Given the description of an element on the screen output the (x, y) to click on. 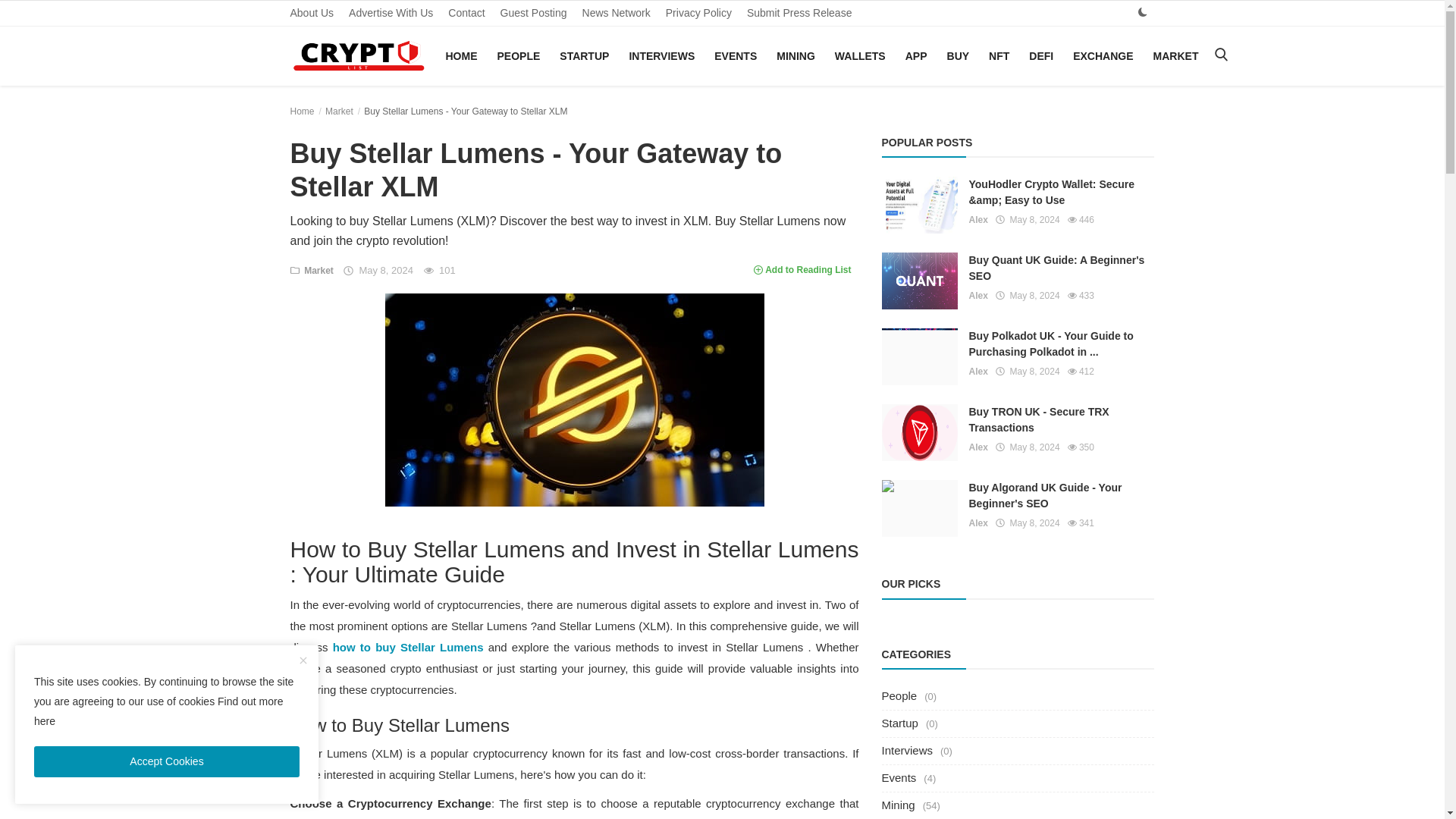
EVENTS (735, 55)
Guest Posting (534, 13)
MARKET (1176, 55)
INTERVIEWS (661, 55)
Advertise With Us (390, 13)
Submit Press Release (799, 13)
PEOPLE (518, 55)
Contact (466, 13)
MINING (795, 55)
About Us (311, 13)
